Given the description of an element on the screen output the (x, y) to click on. 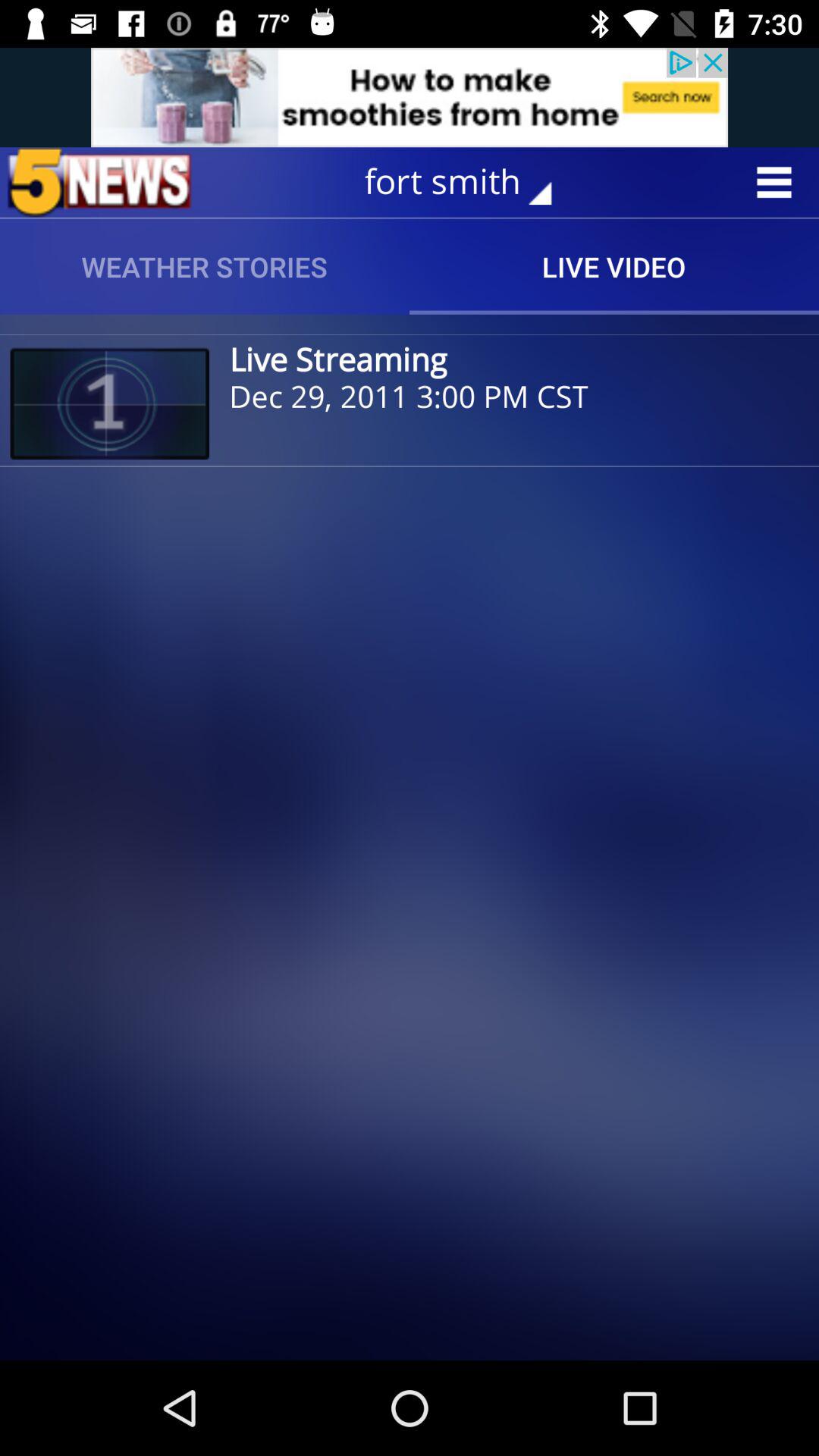
open news option (99, 182)
